Given the description of an element on the screen output the (x, y) to click on. 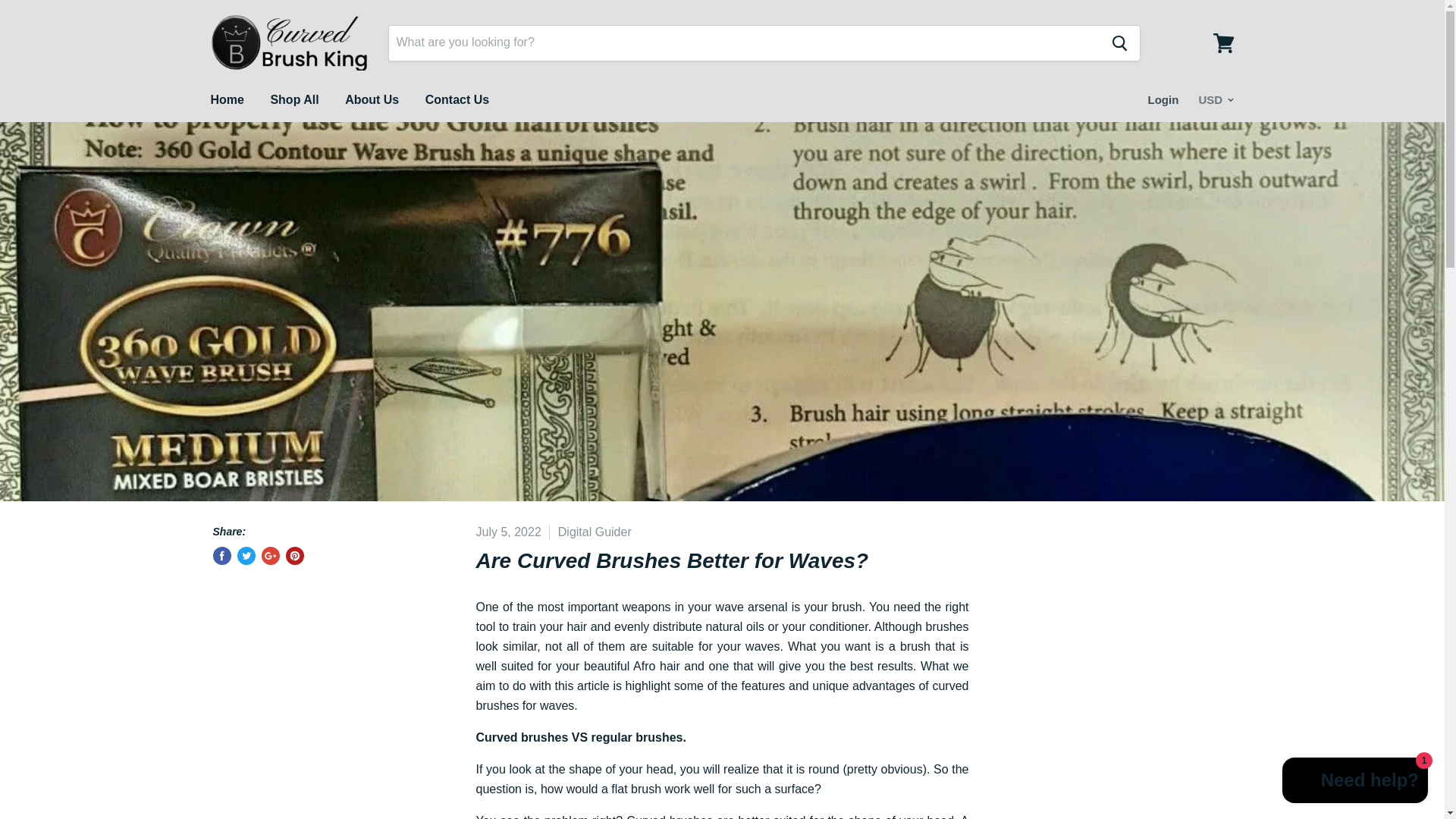
Home (226, 100)
View cart (1223, 42)
Tweet on Twitter (244, 556)
About Us (371, 100)
Contact Us (456, 100)
Shopify online store chat (1355, 781)
Share on Facebook (221, 556)
Login (1163, 100)
Pin on Pinterest (293, 556)
Shop All (294, 100)
